Given the description of an element on the screen output the (x, y) to click on. 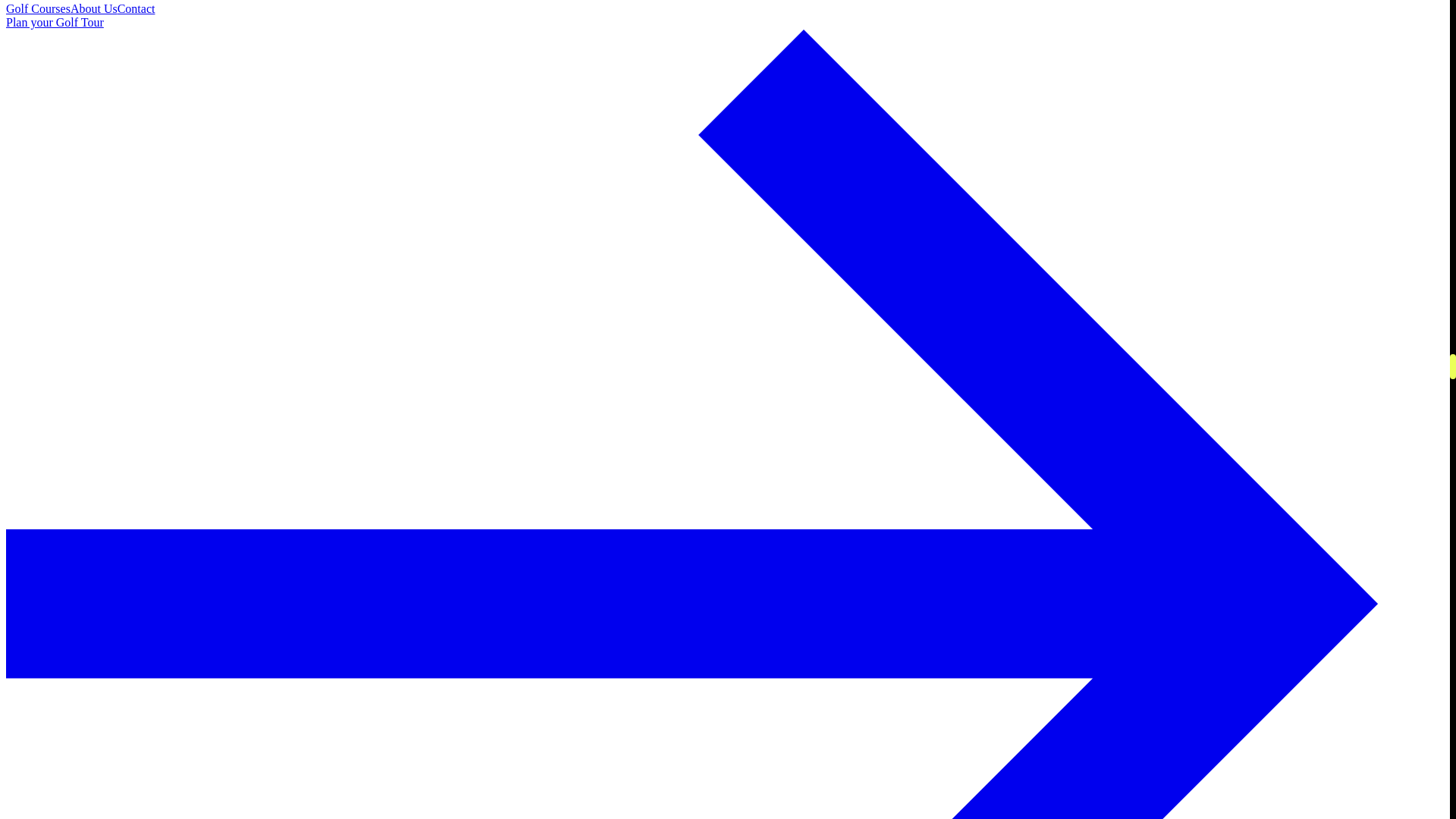
Contact (136, 8)
About Us (93, 8)
Golf Courses (37, 8)
